Given the description of an element on the screen output the (x, y) to click on. 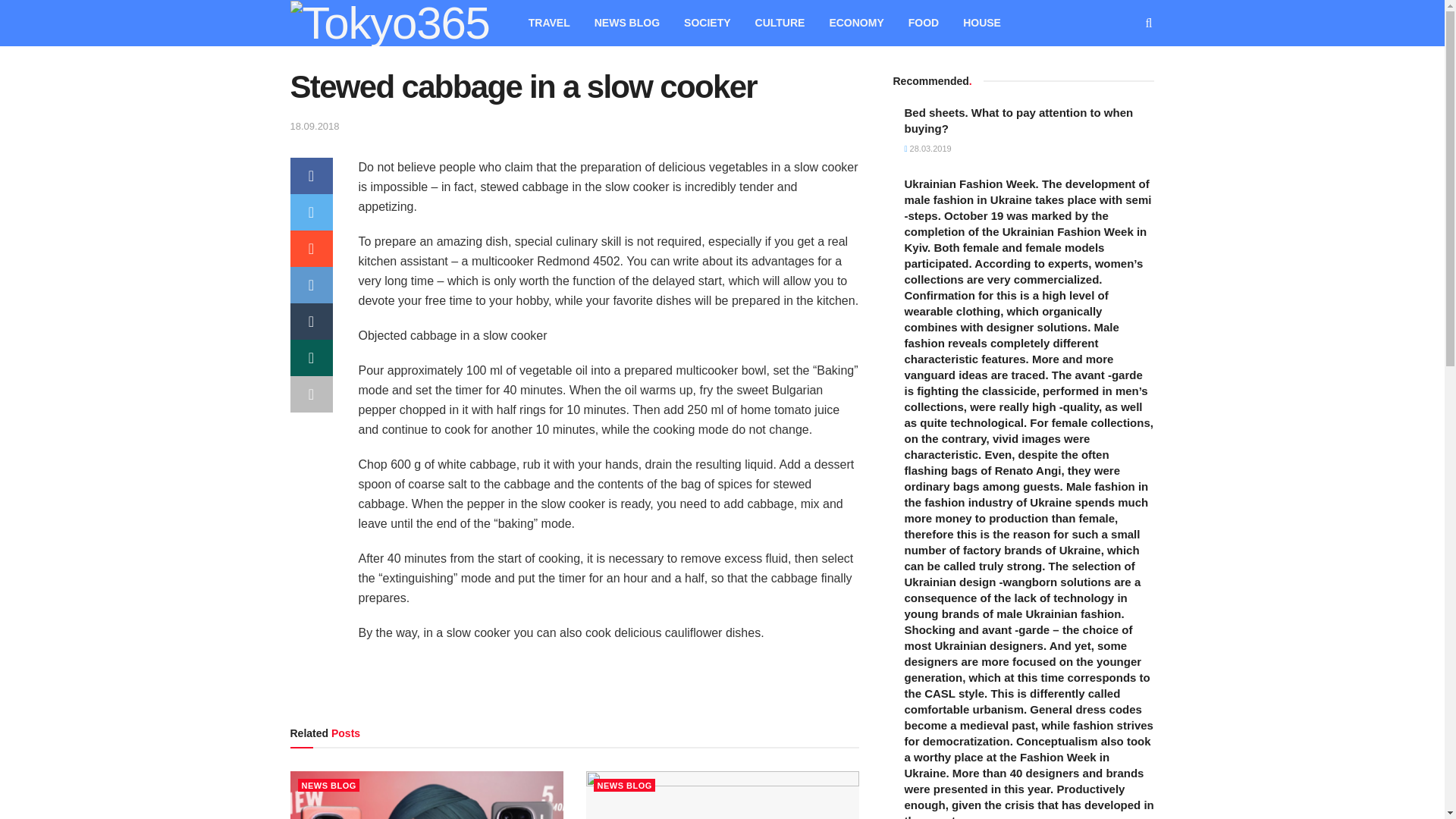
SOCIETY (706, 22)
NEWS BLOG (622, 784)
TRAVEL (549, 22)
CULTURE (779, 22)
FOOD (923, 22)
18.09.2018 (314, 125)
HOUSE (981, 22)
NEWS BLOG (327, 784)
NEWS BLOG (626, 22)
ECONOMY (855, 22)
